Given the description of an element on the screen output the (x, y) to click on. 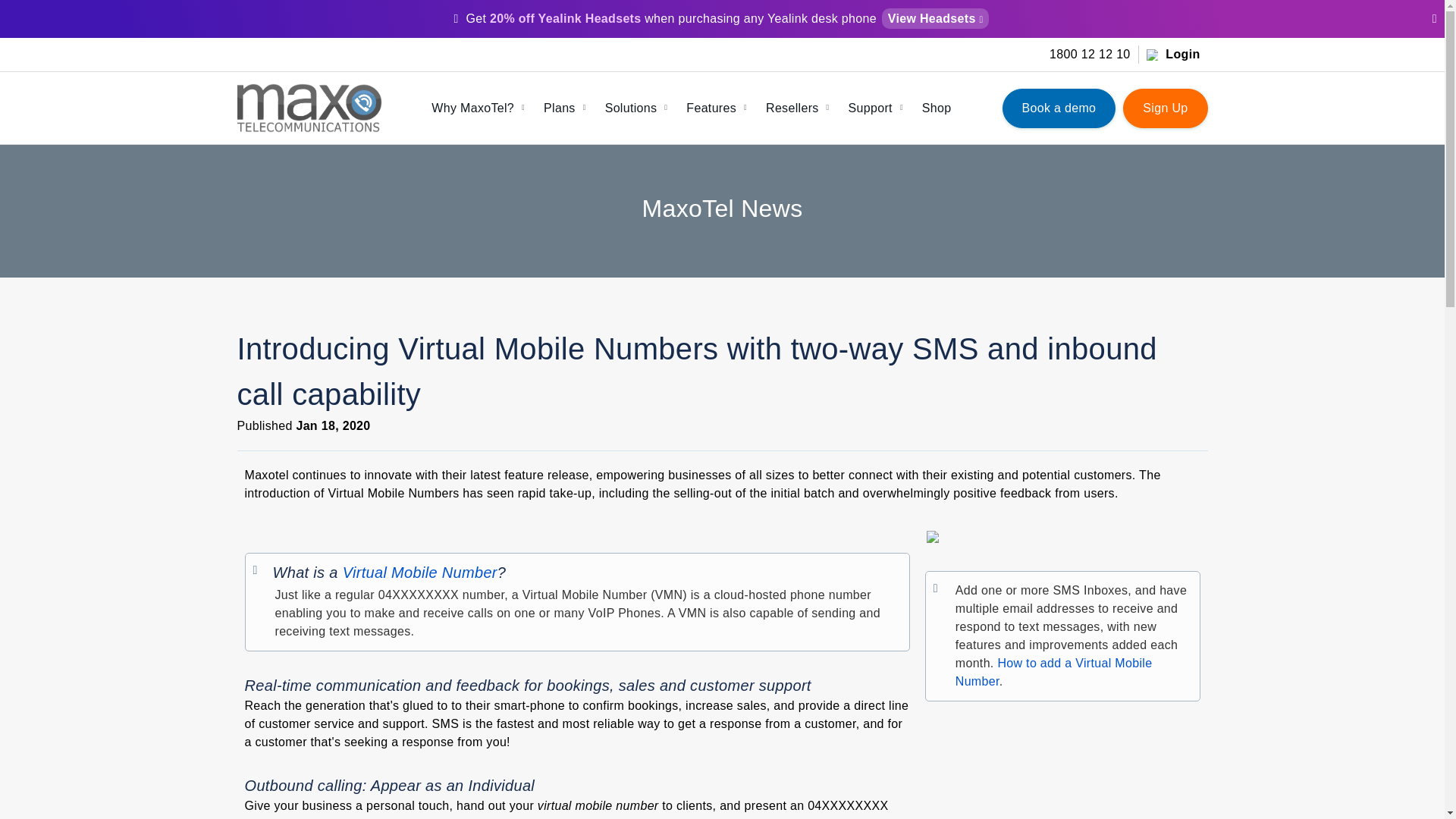
Plans (568, 107)
Solutions (640, 107)
Why MaxoTel? (481, 107)
Login (1173, 54)
1800 12 12 10 (1090, 54)
